Given the description of an element on the screen output the (x, y) to click on. 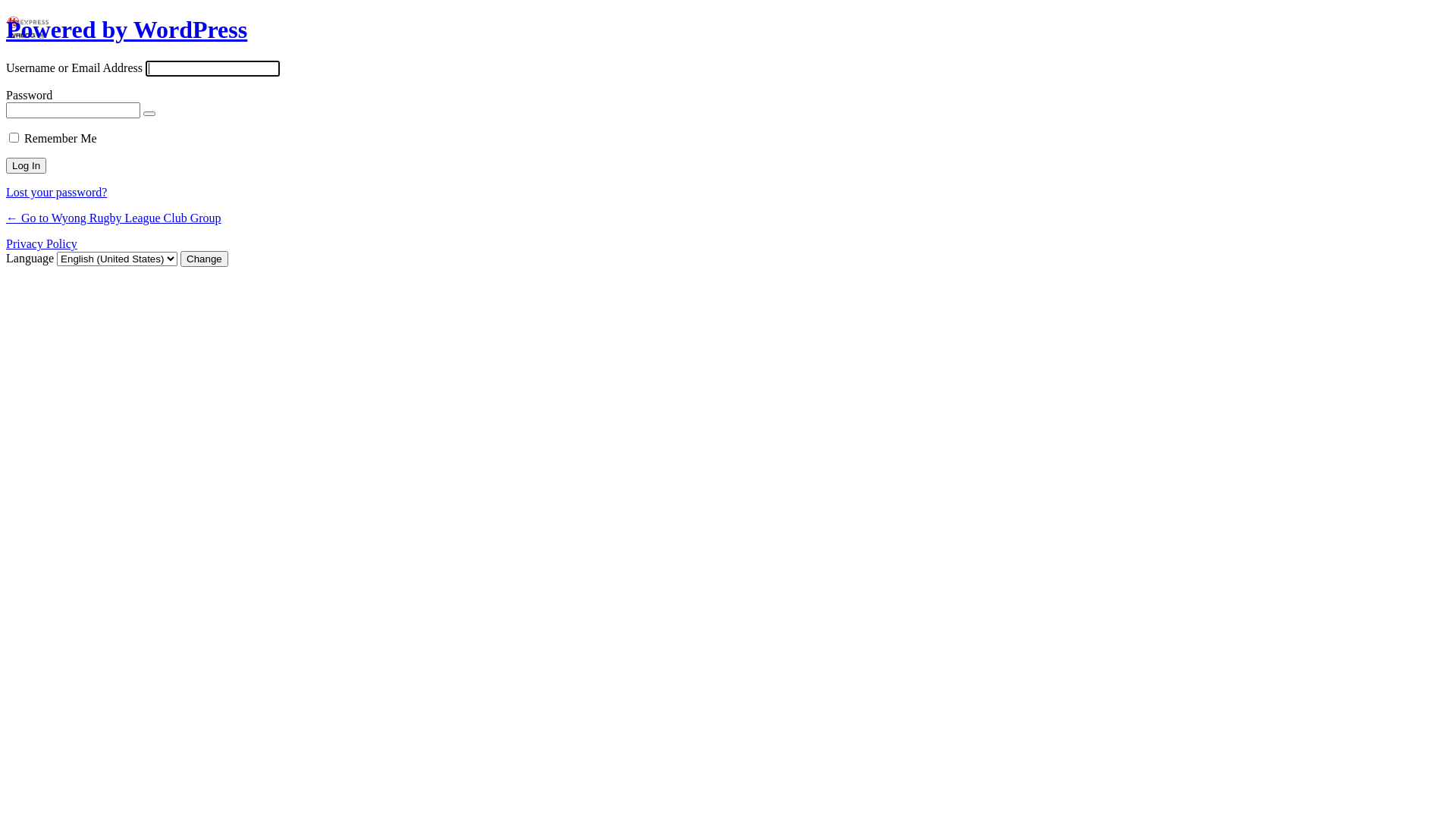
Lost your password? Element type: text (56, 191)
Change Element type: text (204, 258)
Privacy Policy Element type: text (41, 243)
Powered by WordPress Element type: text (126, 29)
Log In Element type: text (26, 165)
